Given the description of an element on the screen output the (x, y) to click on. 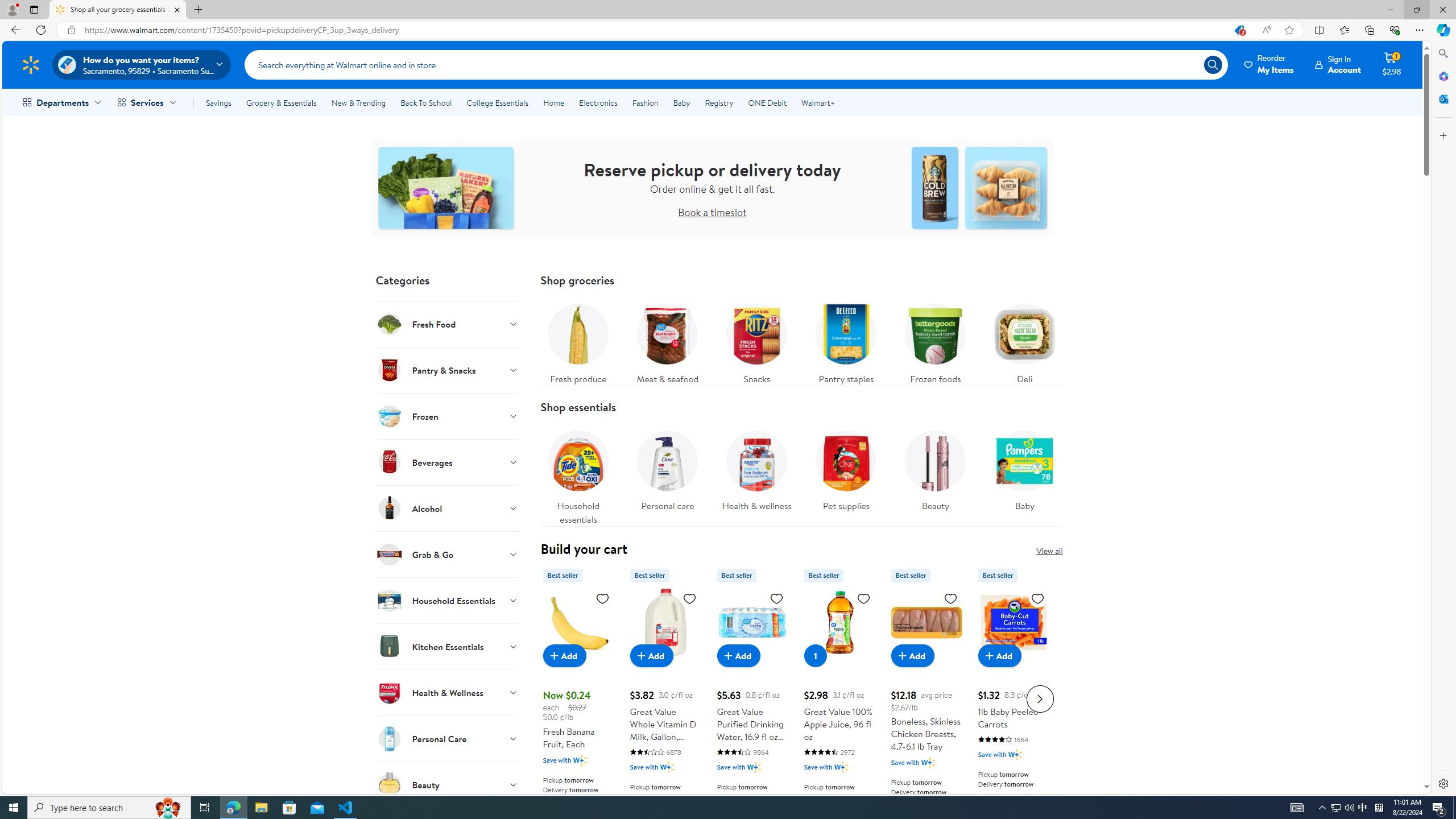
Pet supplies (845, 473)
Savings (217, 102)
Walmart+ (817, 102)
Household essentials (577, 473)
Frozen (446, 415)
Health & wellness (756, 473)
Frozen foods (935, 340)
Book a timeslot (712, 211)
